Given the description of an element on the screen output the (x, y) to click on. 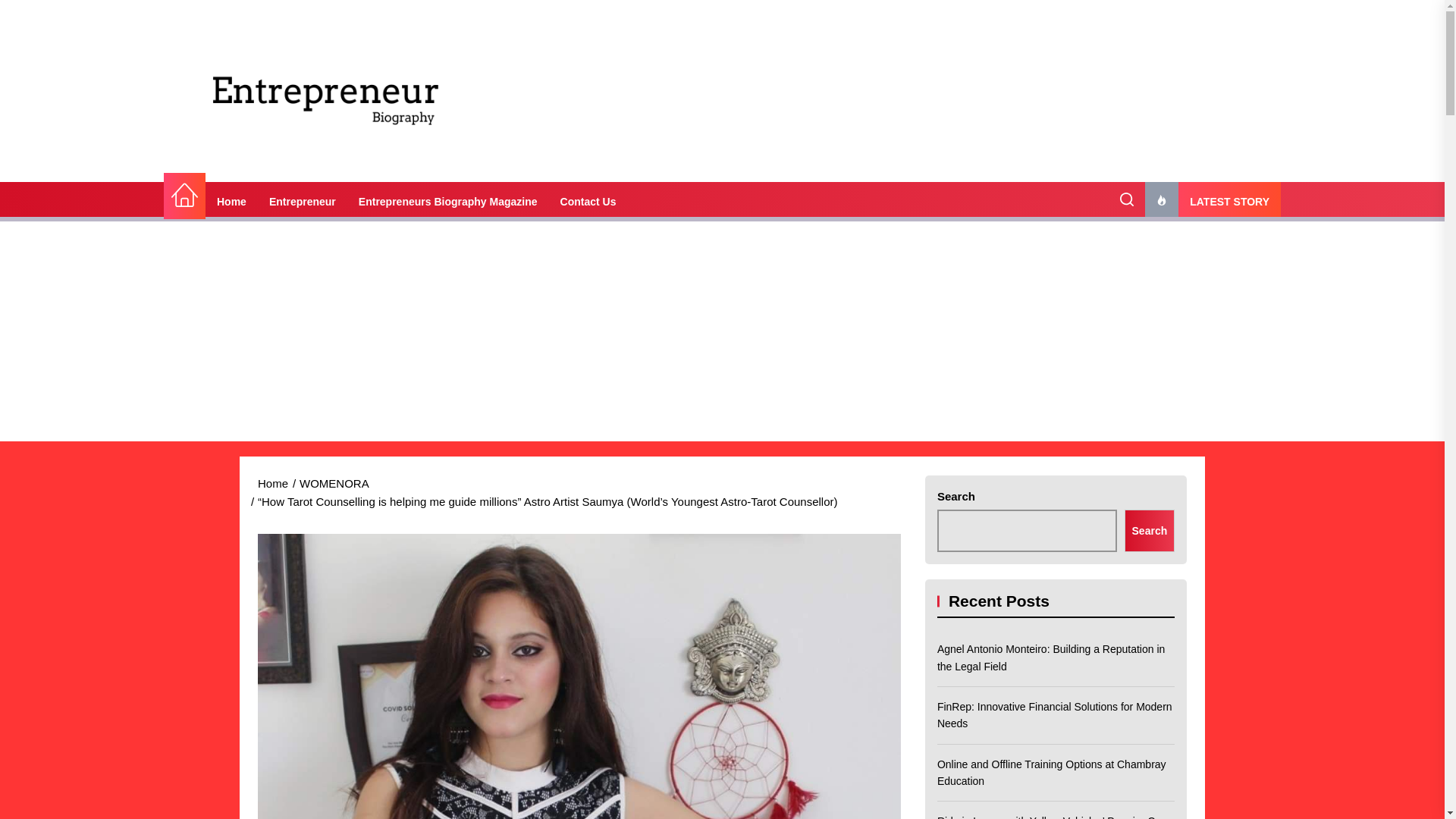
Home (231, 201)
Entrepreneurs Biography Magazine (447, 201)
Contact Us (587, 201)
LATEST STORY (1212, 201)
Entrepreneur (302, 201)
ENTREPRENEUR BIOGRAPHY (395, 173)
Home (184, 195)
